Given the description of an element on the screen output the (x, y) to click on. 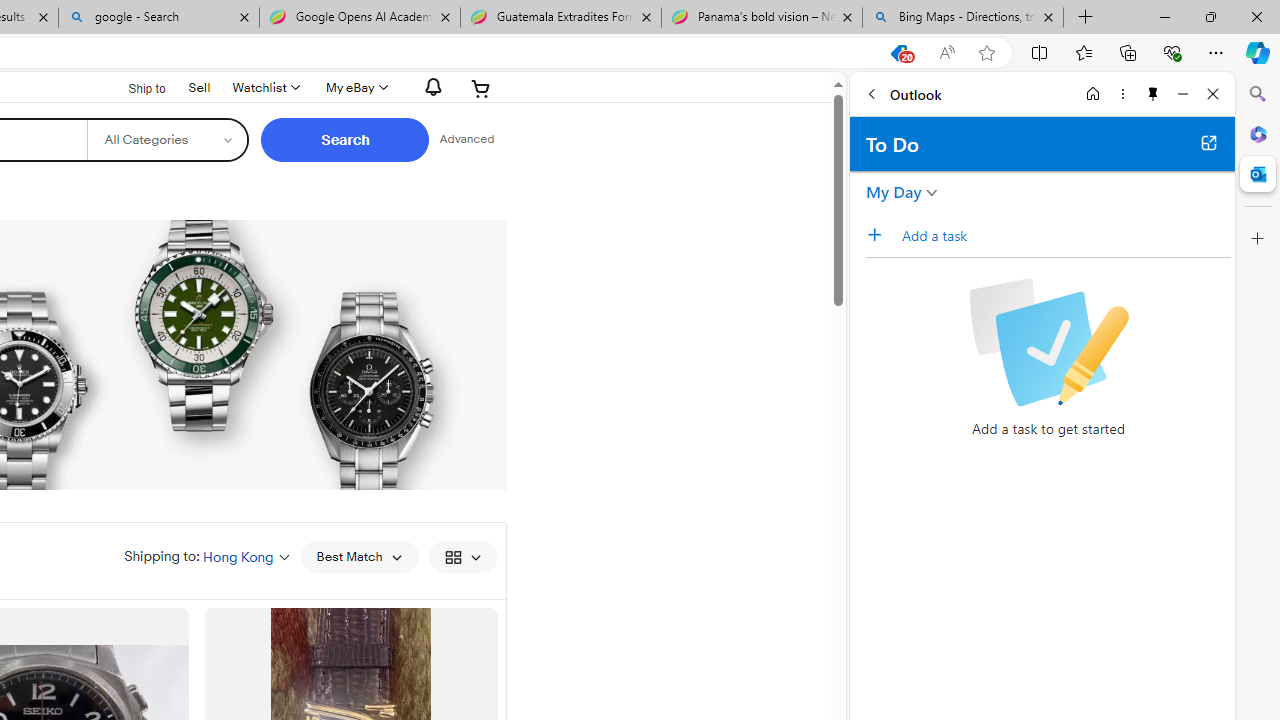
Sort: Best Match (358, 556)
View: Gallery View (462, 556)
Shipping to: Hong Kong (207, 556)
My eBay (354, 88)
Ship to (134, 86)
Sell (199, 87)
AutomationID: gh-eb-Alerts (430, 87)
